Given the description of an element on the screen output the (x, y) to click on. 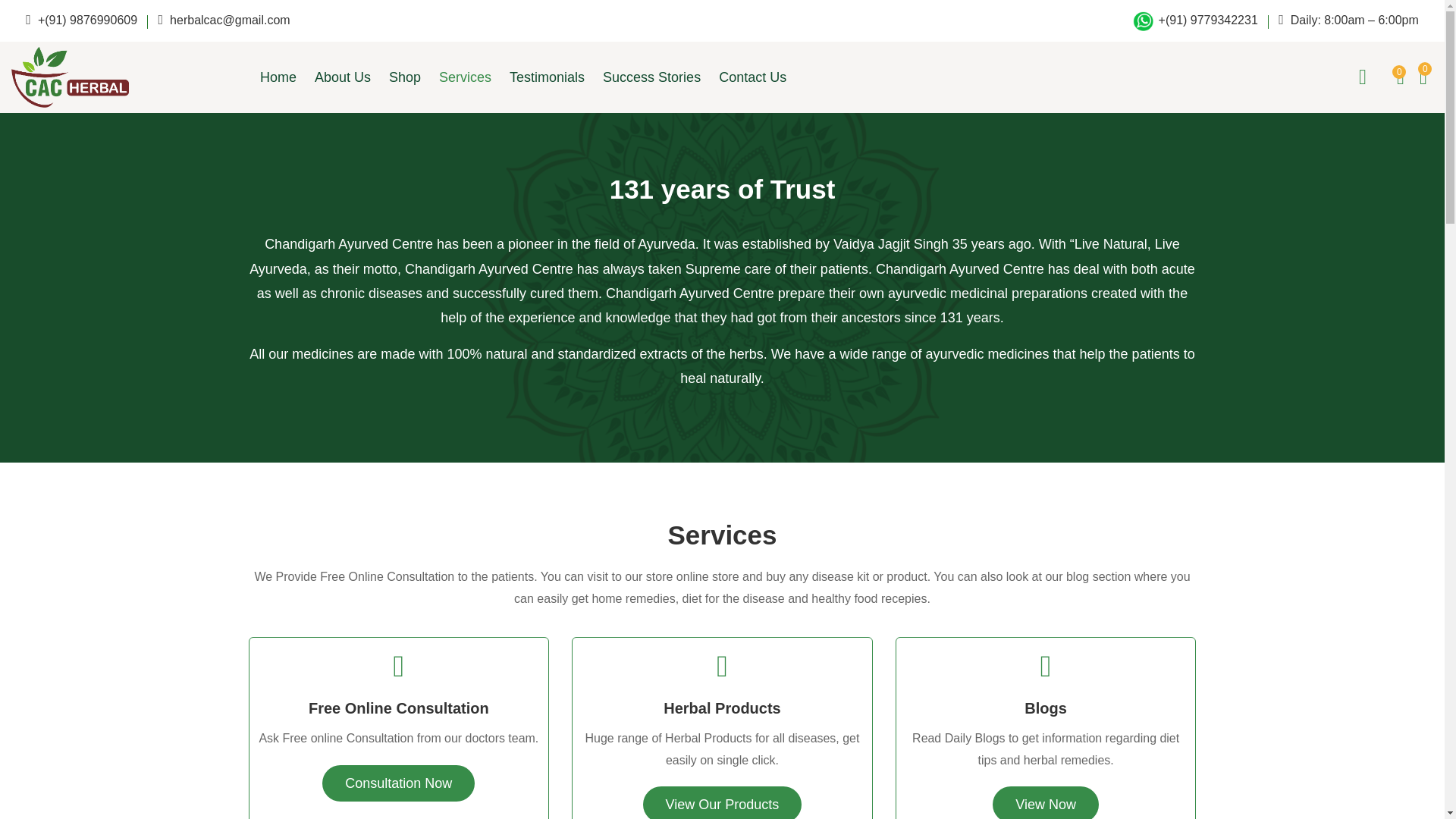
Contact Us (752, 76)
About Us (342, 76)
View Our Products (722, 802)
Testimonials (547, 76)
Shop (404, 76)
CAC Herbal (70, 75)
View Now (1045, 802)
Consultation Now (397, 782)
Success Stories (652, 76)
Home (282, 76)
